Given the description of an element on the screen output the (x, y) to click on. 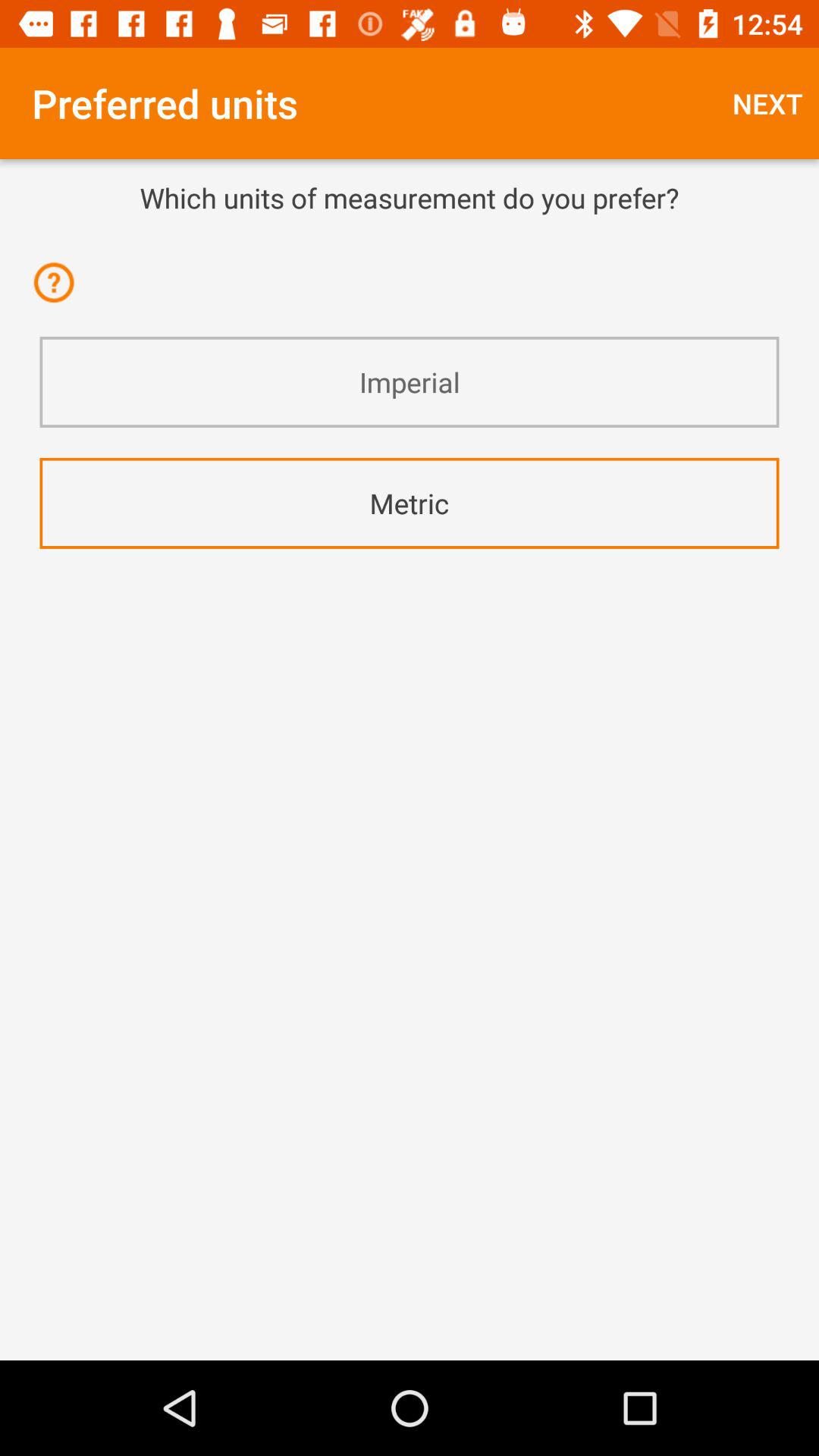
select the icon below the metric item (409, 589)
